Given the description of an element on the screen output the (x, y) to click on. 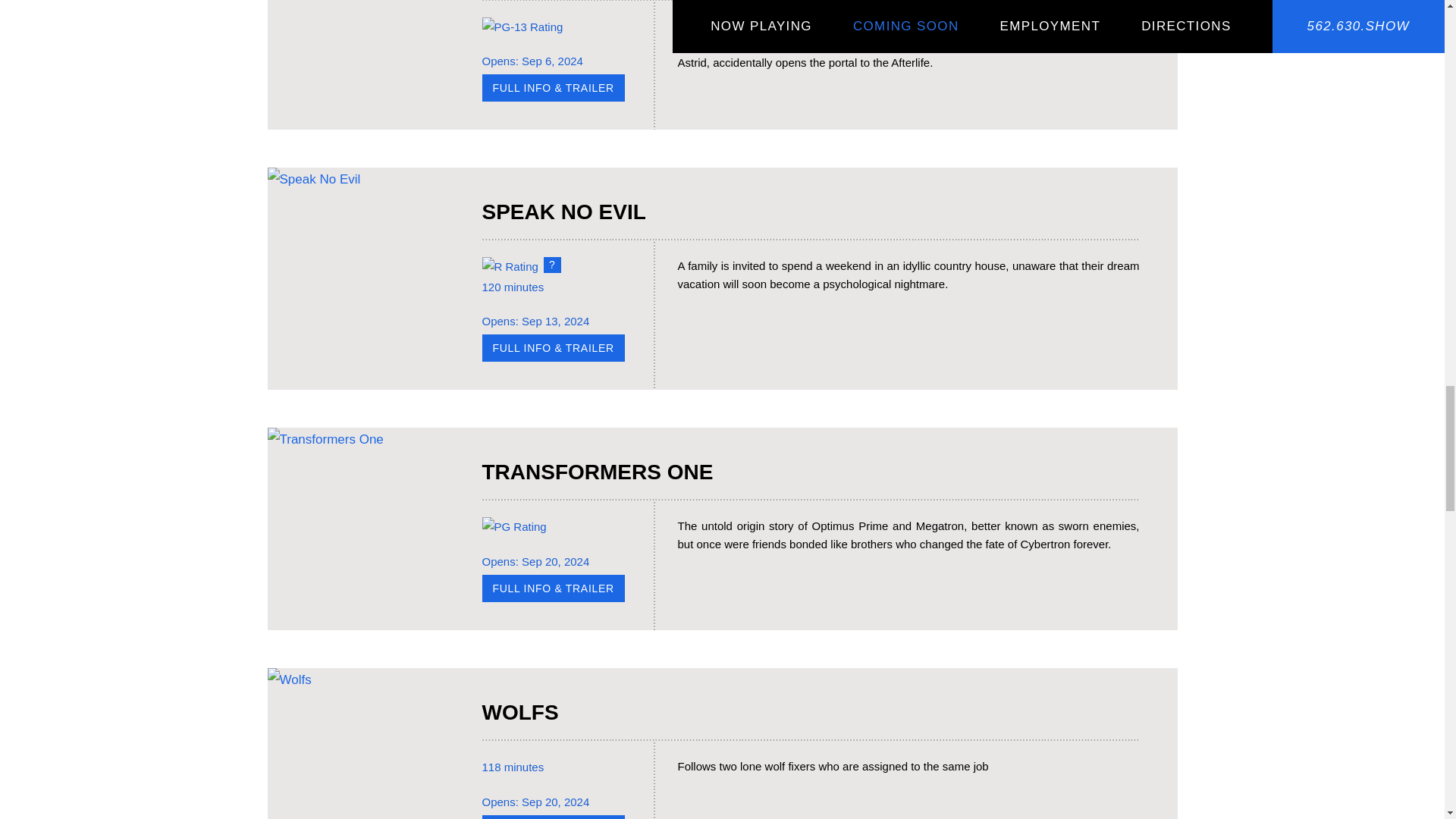
? (551, 264)
